Given the description of an element on the screen output the (x, y) to click on. 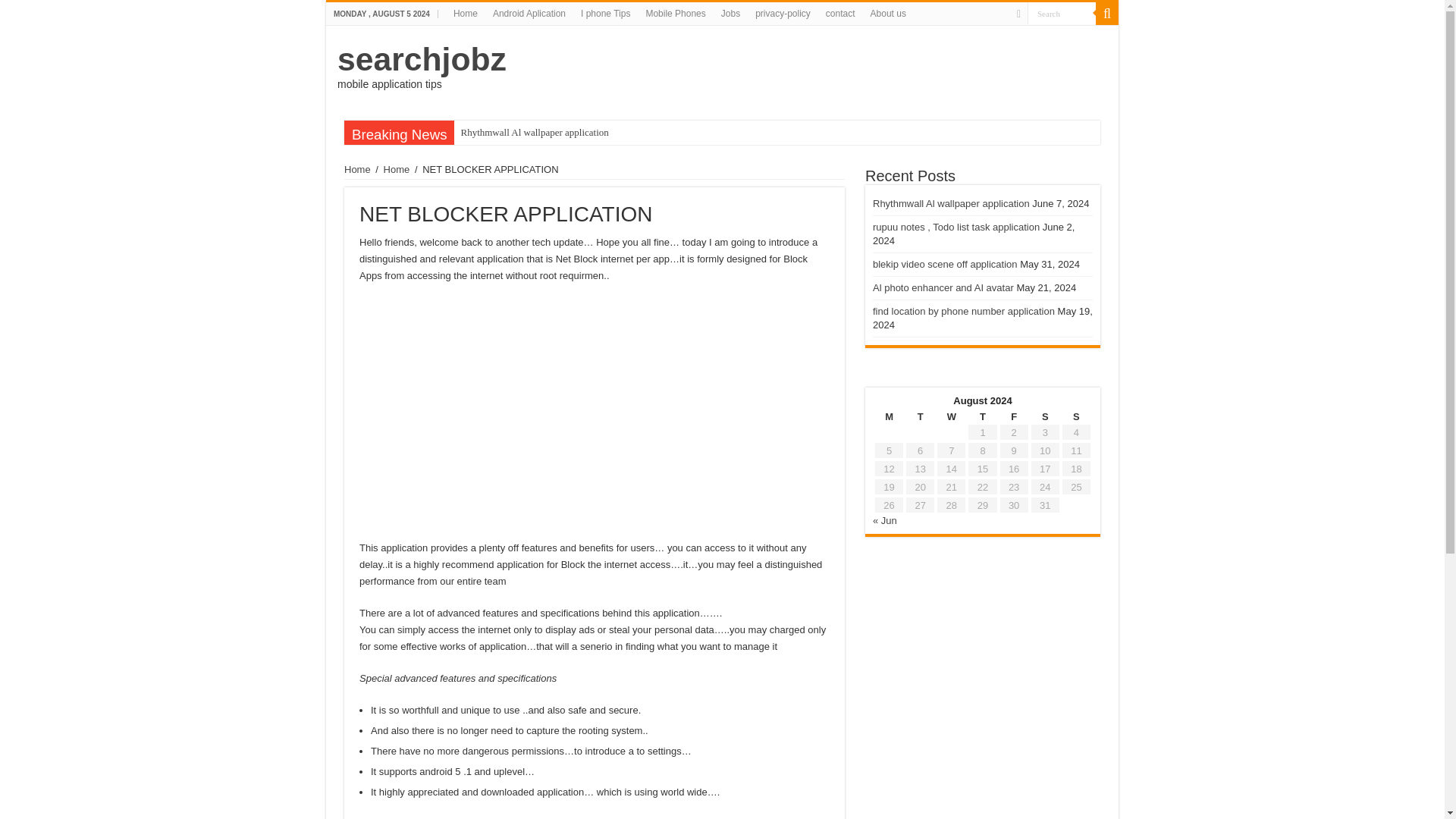
Rhythmwall Al wallpaper application (543, 132)
Search (1061, 13)
Android Aplication (528, 13)
Home (464, 13)
Al photo enhancer and AI avatar (942, 287)
Search (1061, 13)
About us (888, 13)
Home (357, 169)
I phone Tips (605, 13)
contact (840, 13)
searchjobz (421, 58)
Monday (889, 416)
rupuu notes , Todo list task application (955, 226)
blekip video scene off application (944, 264)
Home (397, 169)
